Given the description of an element on the screen output the (x, y) to click on. 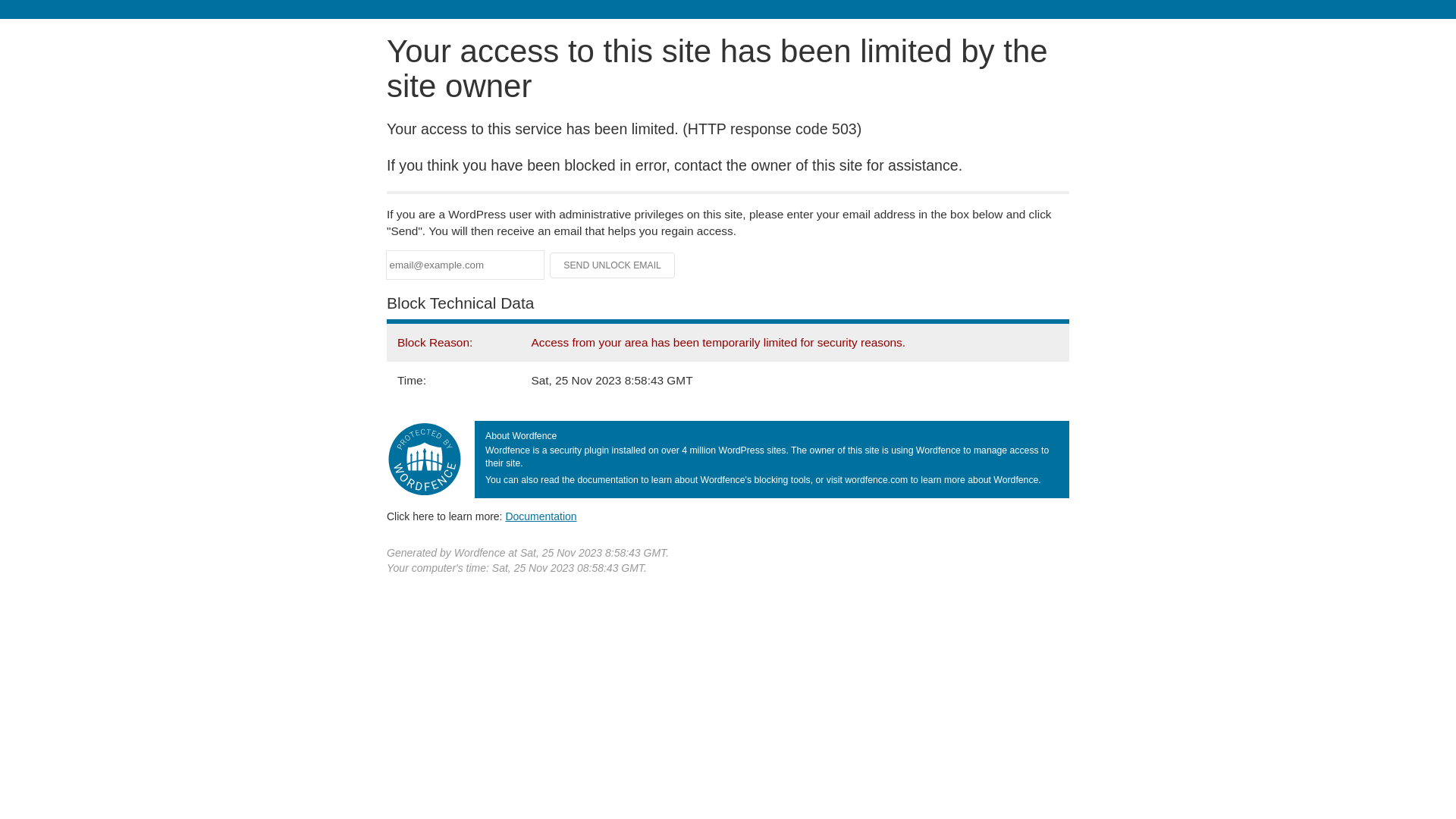
Send Unlock Email Element type: text (612, 265)
Documentation Element type: text (540, 516)
